Given the description of an element on the screen output the (x, y) to click on. 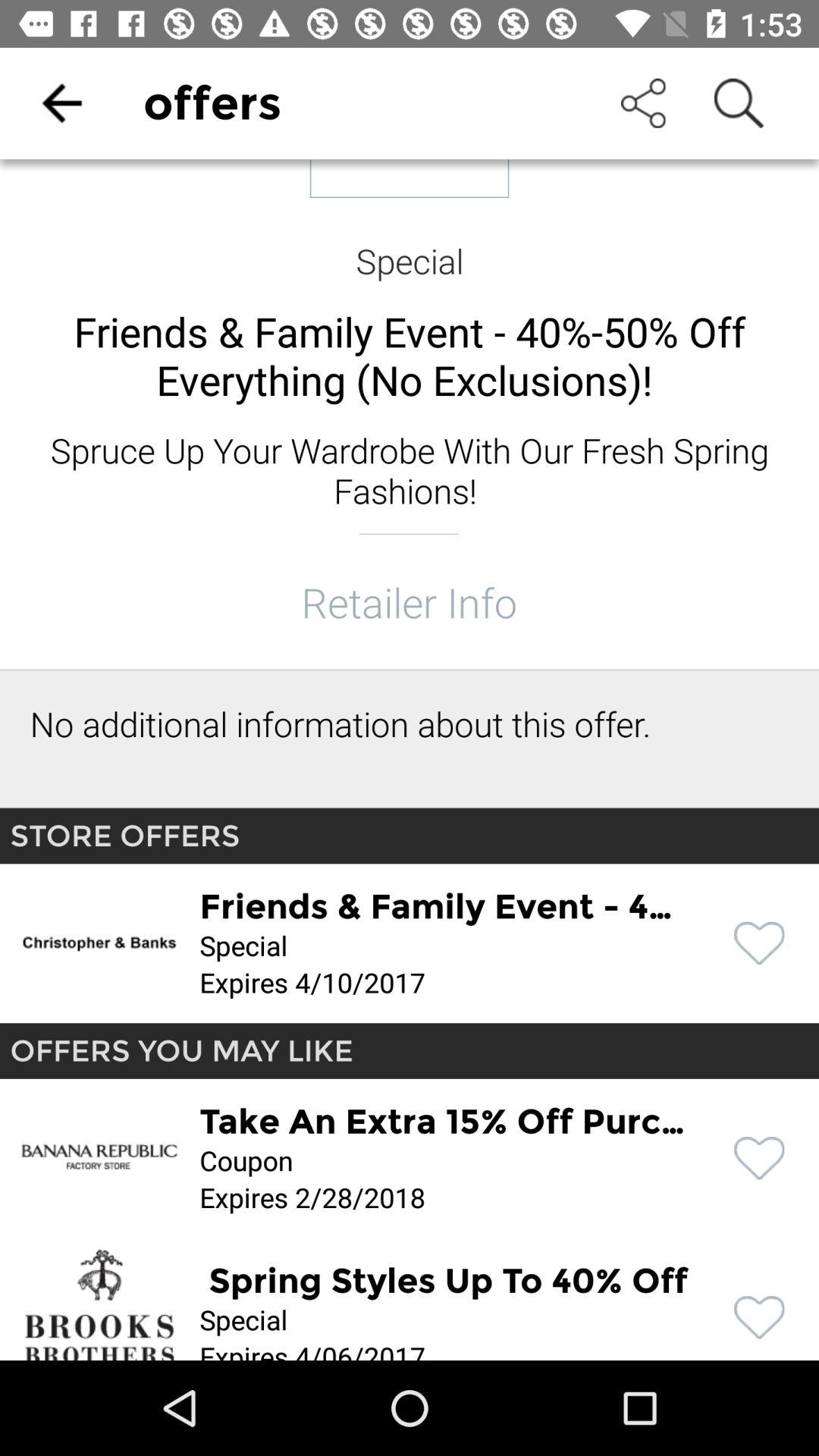
tap the icon above special icon (61, 103)
